Given the description of an element on the screen output the (x, y) to click on. 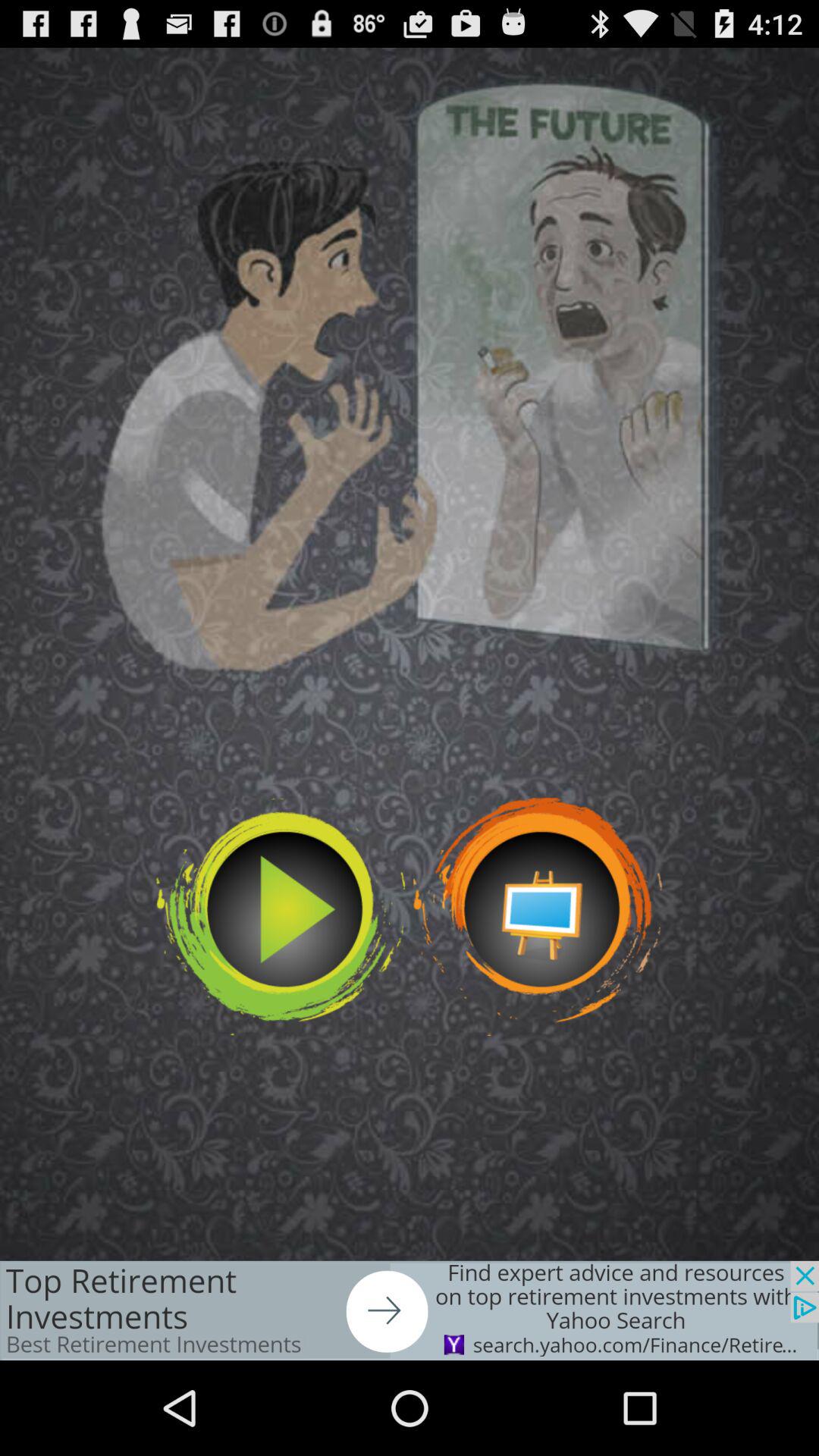
play the video (280, 916)
